Given the description of an element on the screen output the (x, y) to click on. 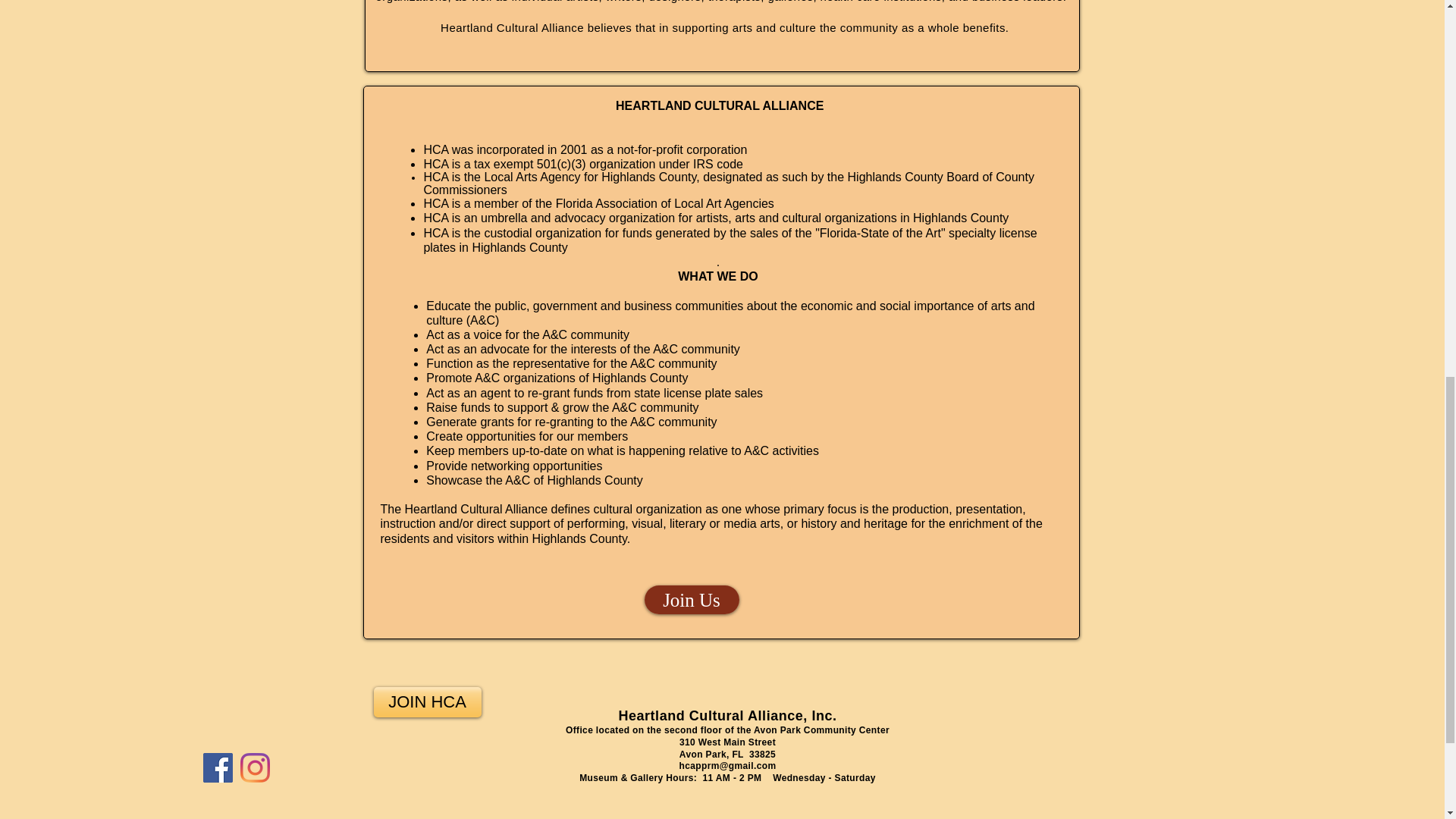
JOIN HCA (426, 702)
Join Us (692, 599)
